Given the description of an element on the screen output the (x, y) to click on. 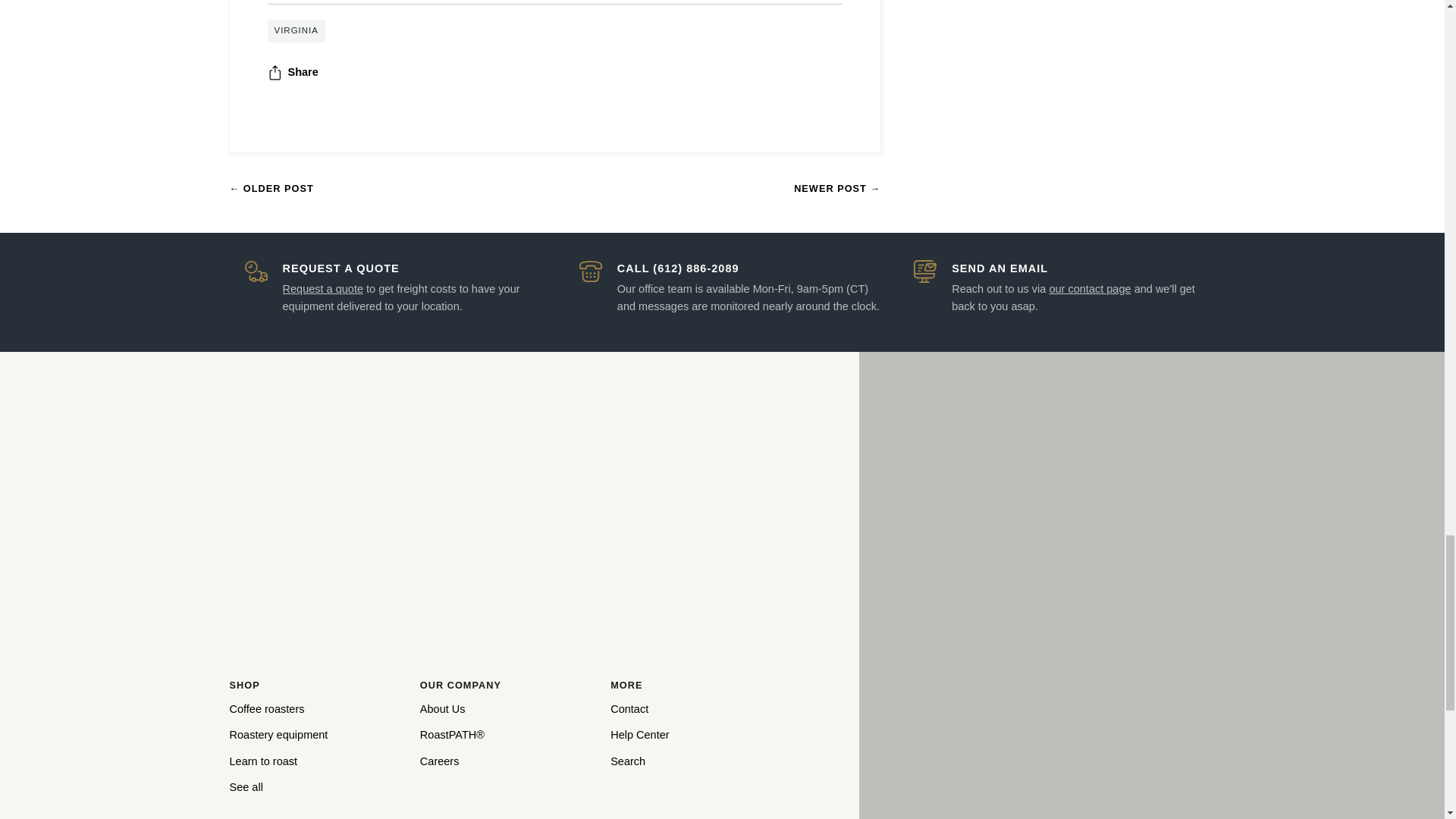
Request a quote (322, 288)
Contact (1089, 288)
